Given the description of an element on the screen output the (x, y) to click on. 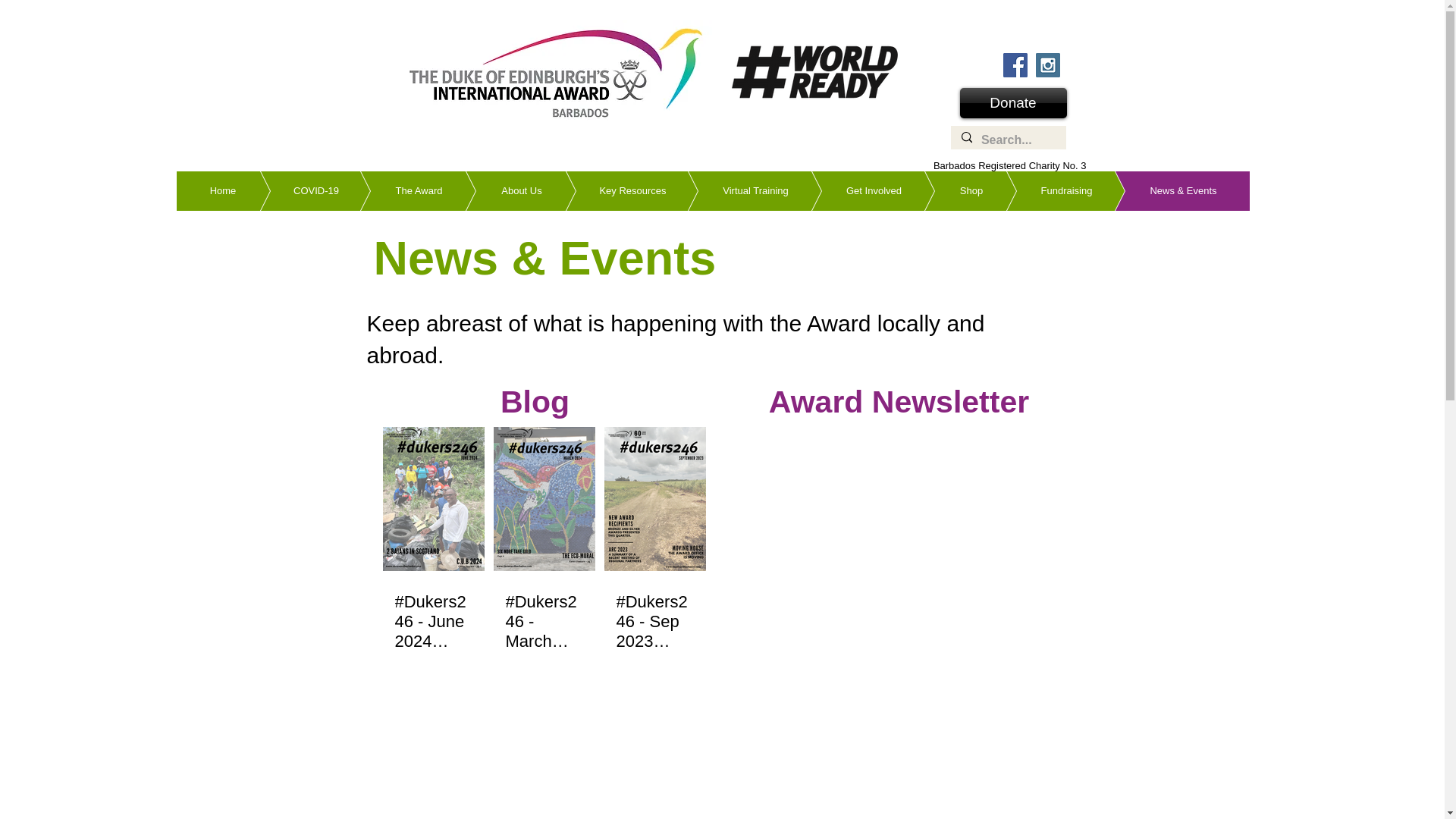
Donate (1013, 102)
Fundraising (1043, 190)
Get Involved (851, 190)
COVID-19 (292, 190)
Home (222, 190)
